Given the description of an element on the screen output the (x, y) to click on. 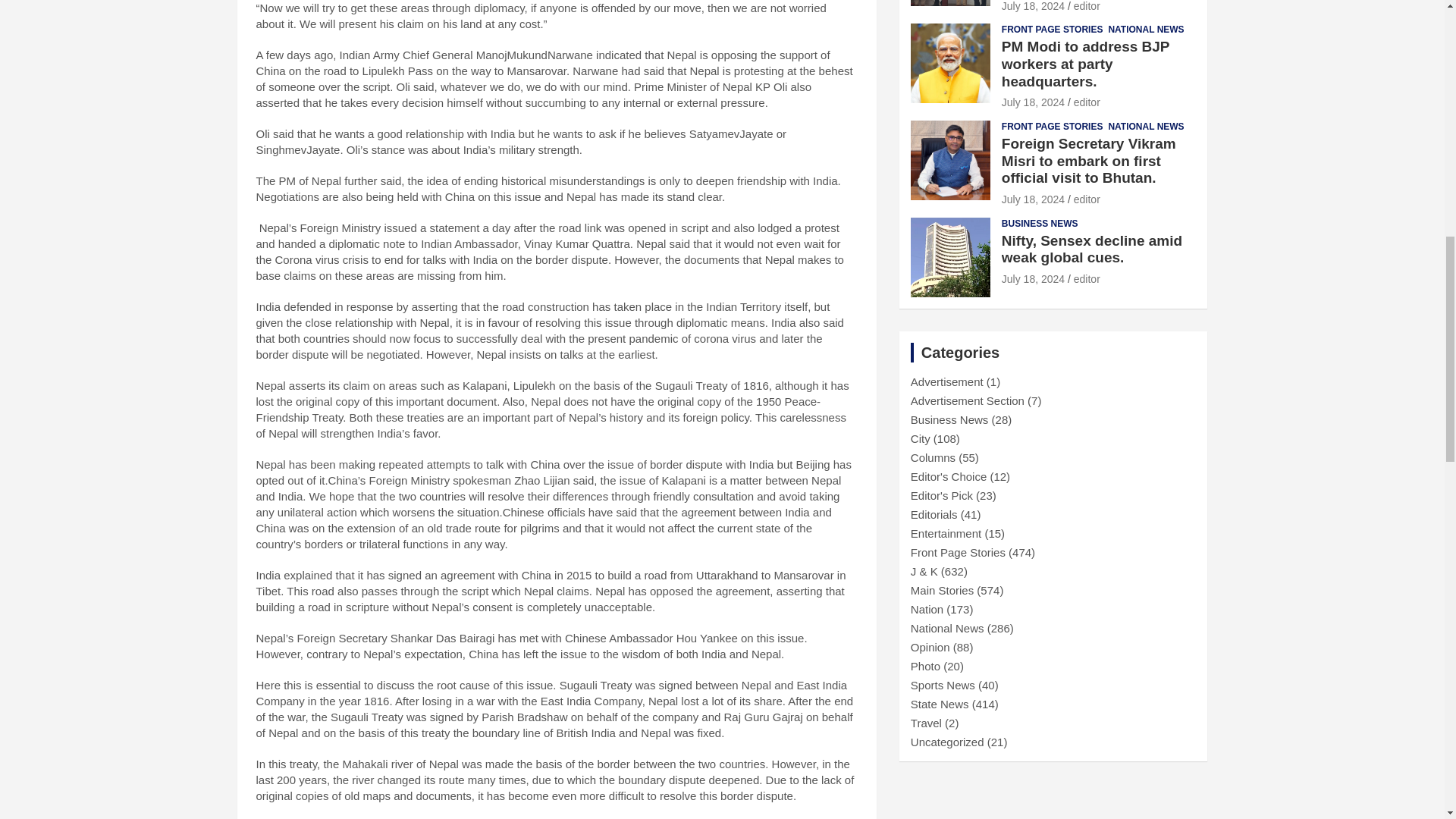
PM Modi to address BJP workers at party headquarters. (1032, 102)
Nifty, Sensex decline amid weak global cues. (1032, 278)
